Given the description of an element on the screen output the (x, y) to click on. 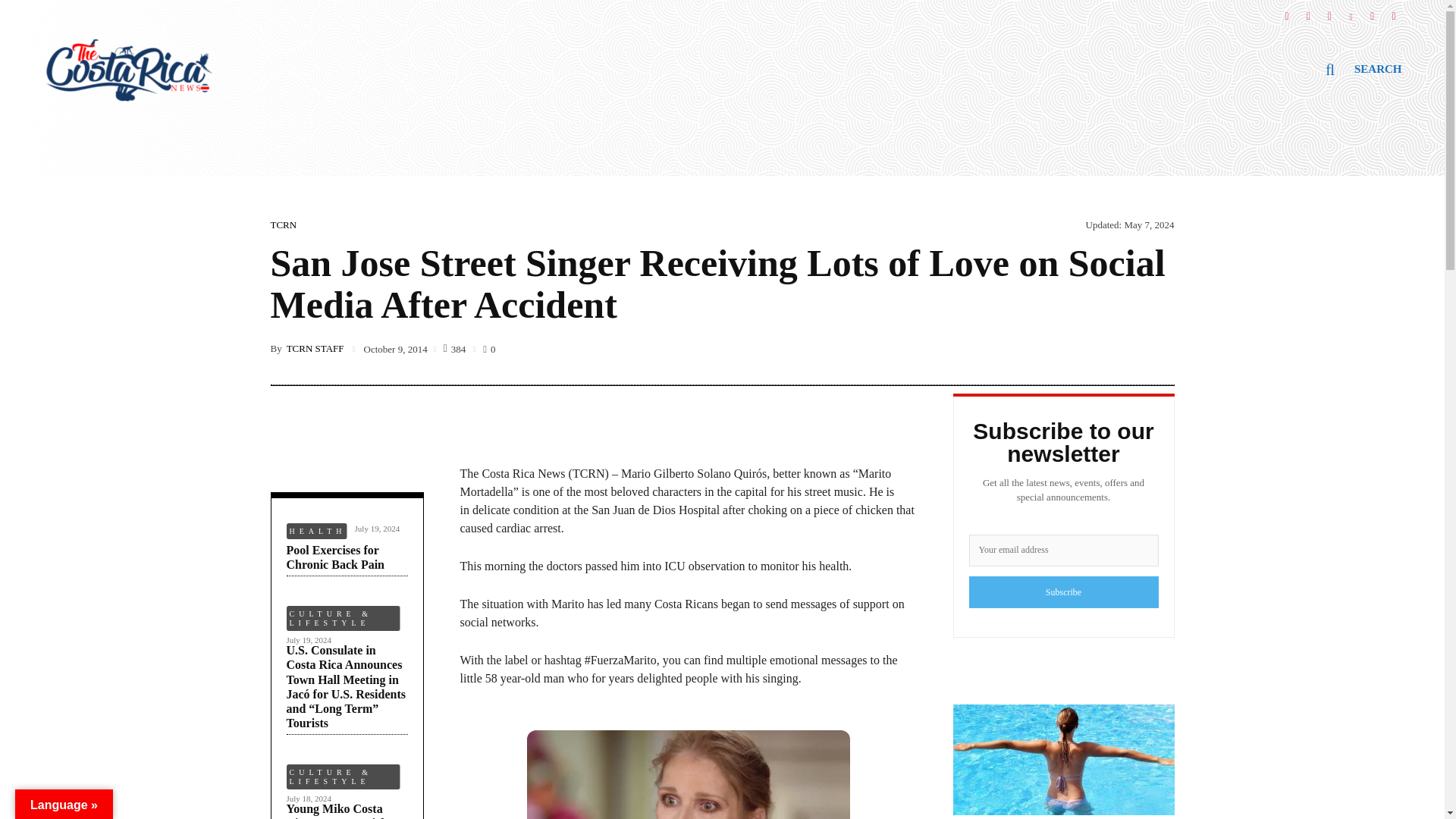
Instagram (1307, 11)
LinkedIn (1350, 11)
Paypal (1393, 11)
YouTube (1371, 11)
Twitter (1329, 11)
Facebook (1286, 11)
